Given the description of an element on the screen output the (x, y) to click on. 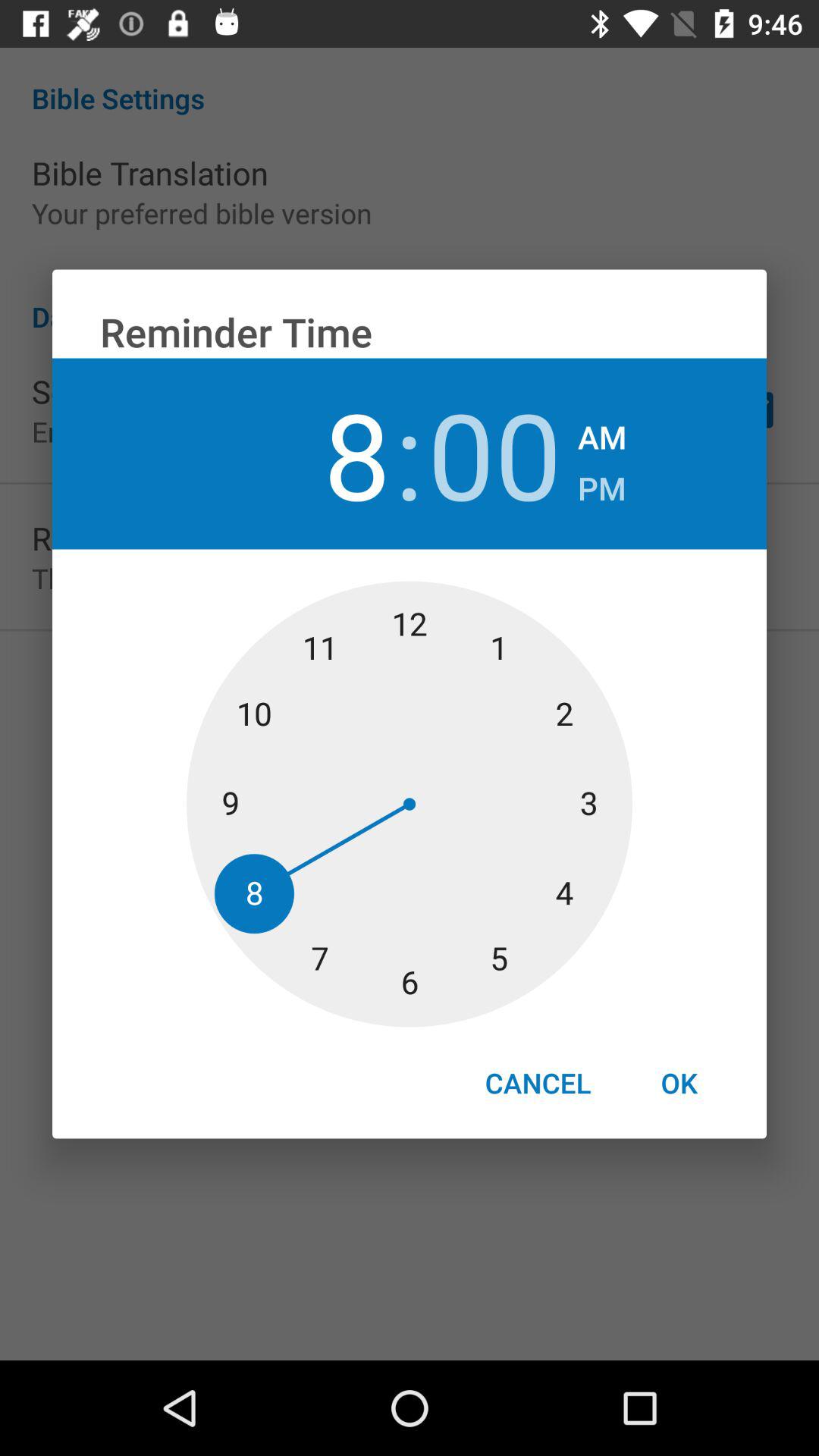
open the am icon (601, 432)
